Given the description of an element on the screen output the (x, y) to click on. 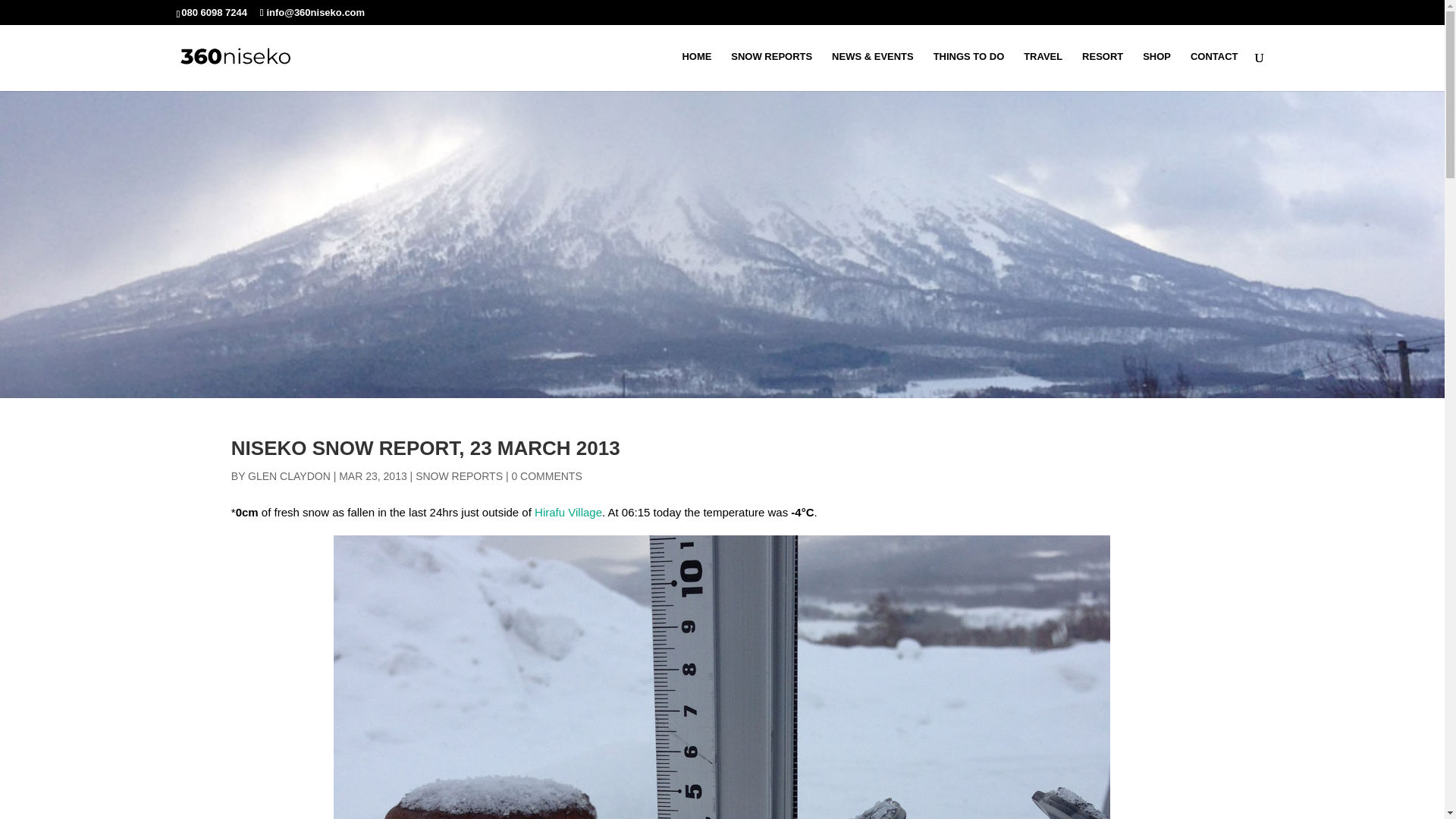
Hirafu Village (568, 512)
TRAVEL (1042, 70)
GLEN CLAYDON (288, 476)
RESORT (1101, 70)
Posts by Glen Claydon (288, 476)
THINGS TO DO (968, 70)
SNOW REPORTS (458, 476)
0 COMMENTS (545, 476)
Hirafu Village (568, 512)
CONTACT (1215, 70)
